Given the description of an element on the screen output the (x, y) to click on. 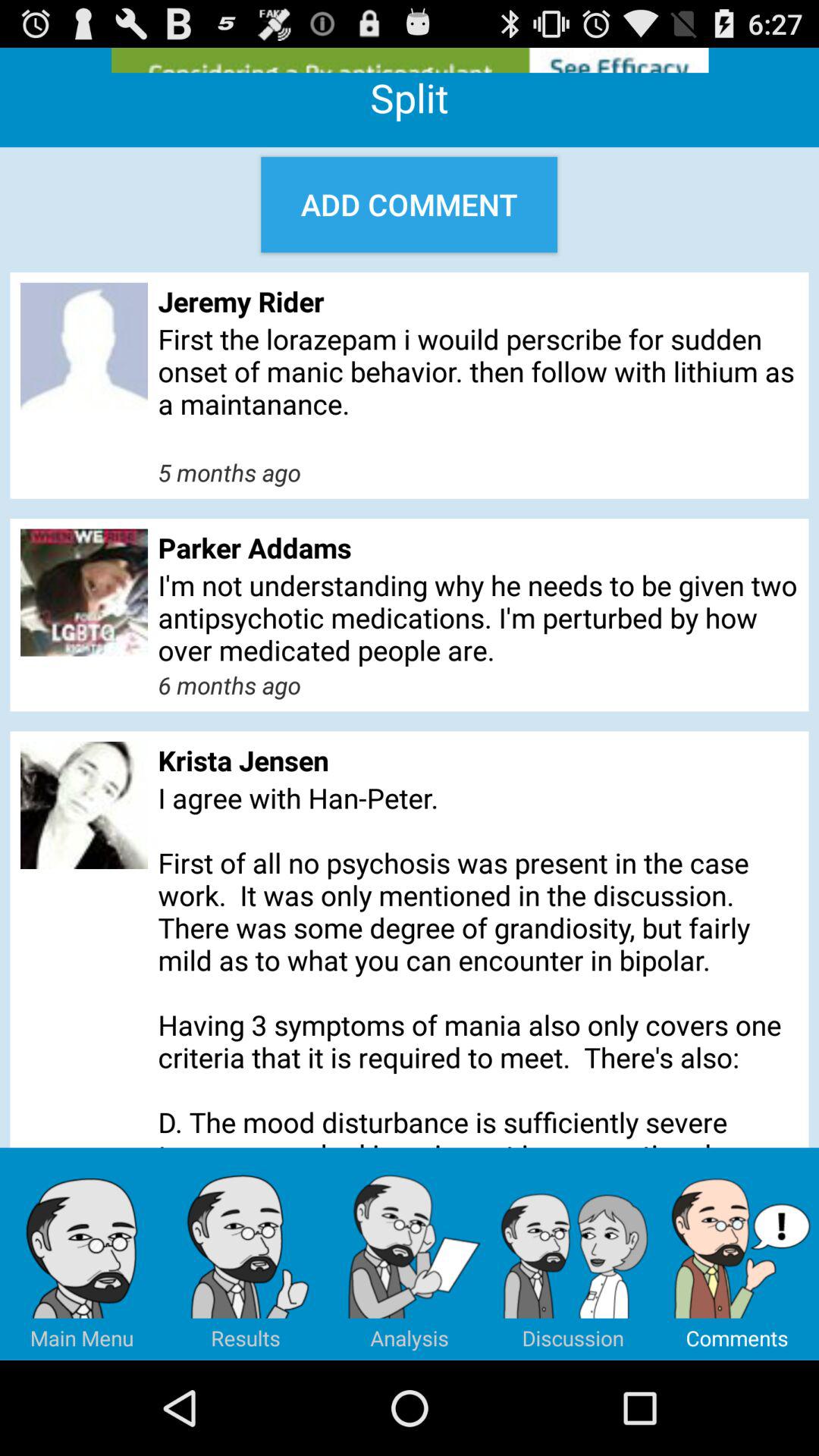
tap the icon below the parker addams app (478, 617)
